Given the description of an element on the screen output the (x, y) to click on. 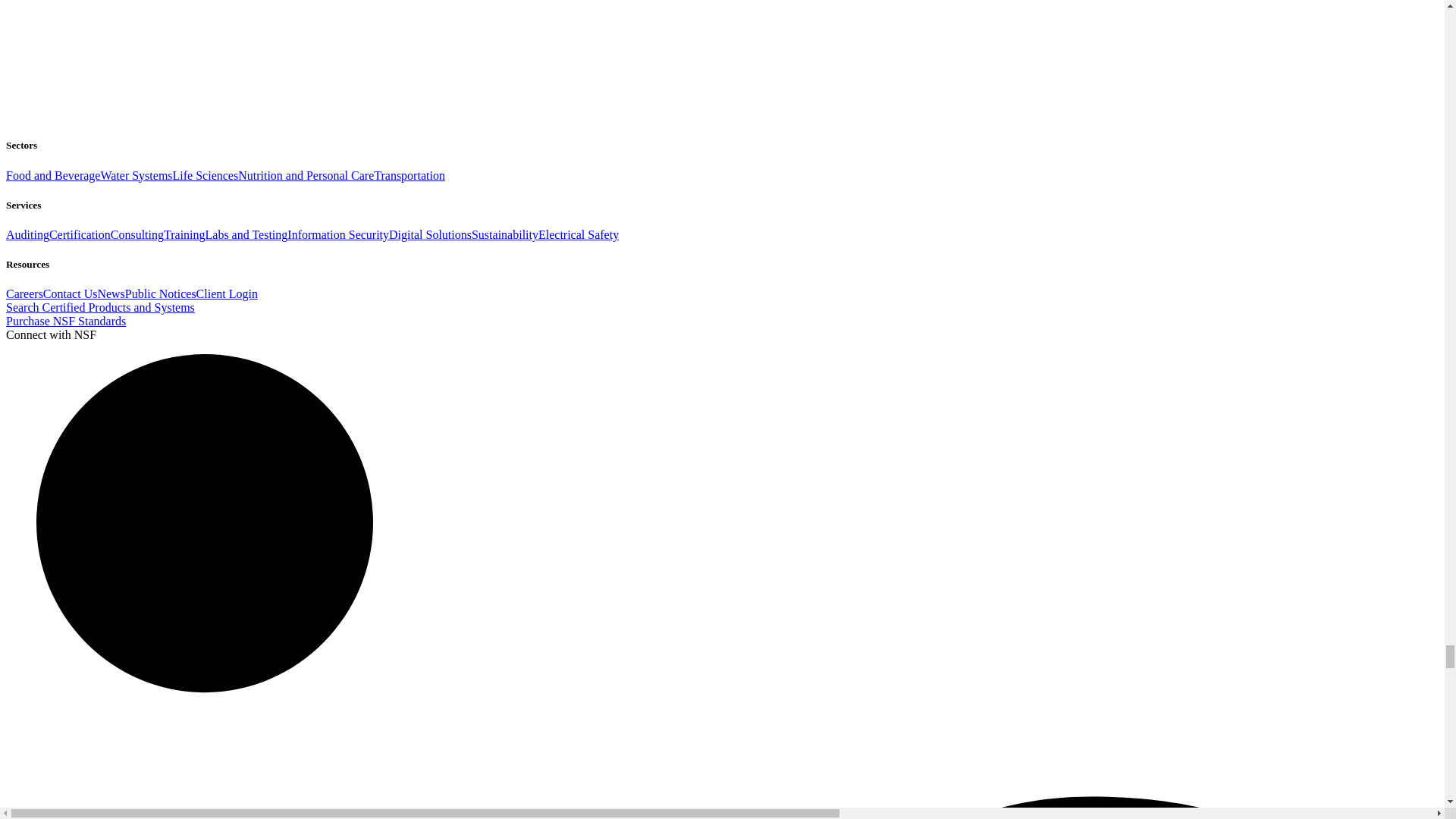
Auditing (27, 234)
Nutrition and Personal Care (306, 174)
Transportation (409, 174)
Certification (79, 234)
Life Sciences (205, 174)
Food and Beverage (52, 174)
Water Systems (135, 174)
